Given the description of an element on the screen output the (x, y) to click on. 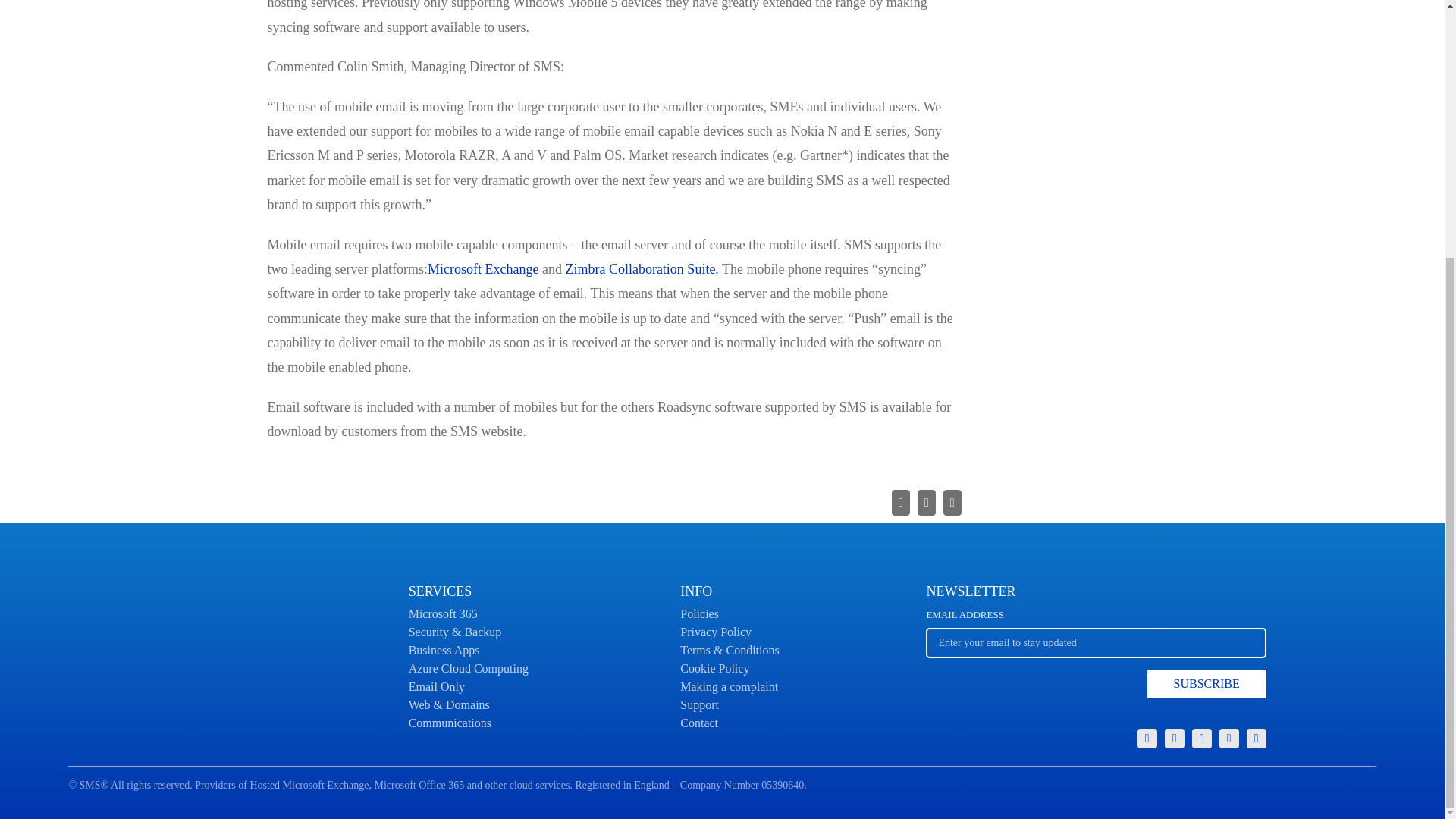
Rss (1095, 658)
LinkedIn (1147, 738)
YouTube (1229, 738)
Facebook (1256, 738)
X (1201, 738)
Group-2434 - SMS (1174, 738)
